Given the description of an element on the screen output the (x, y) to click on. 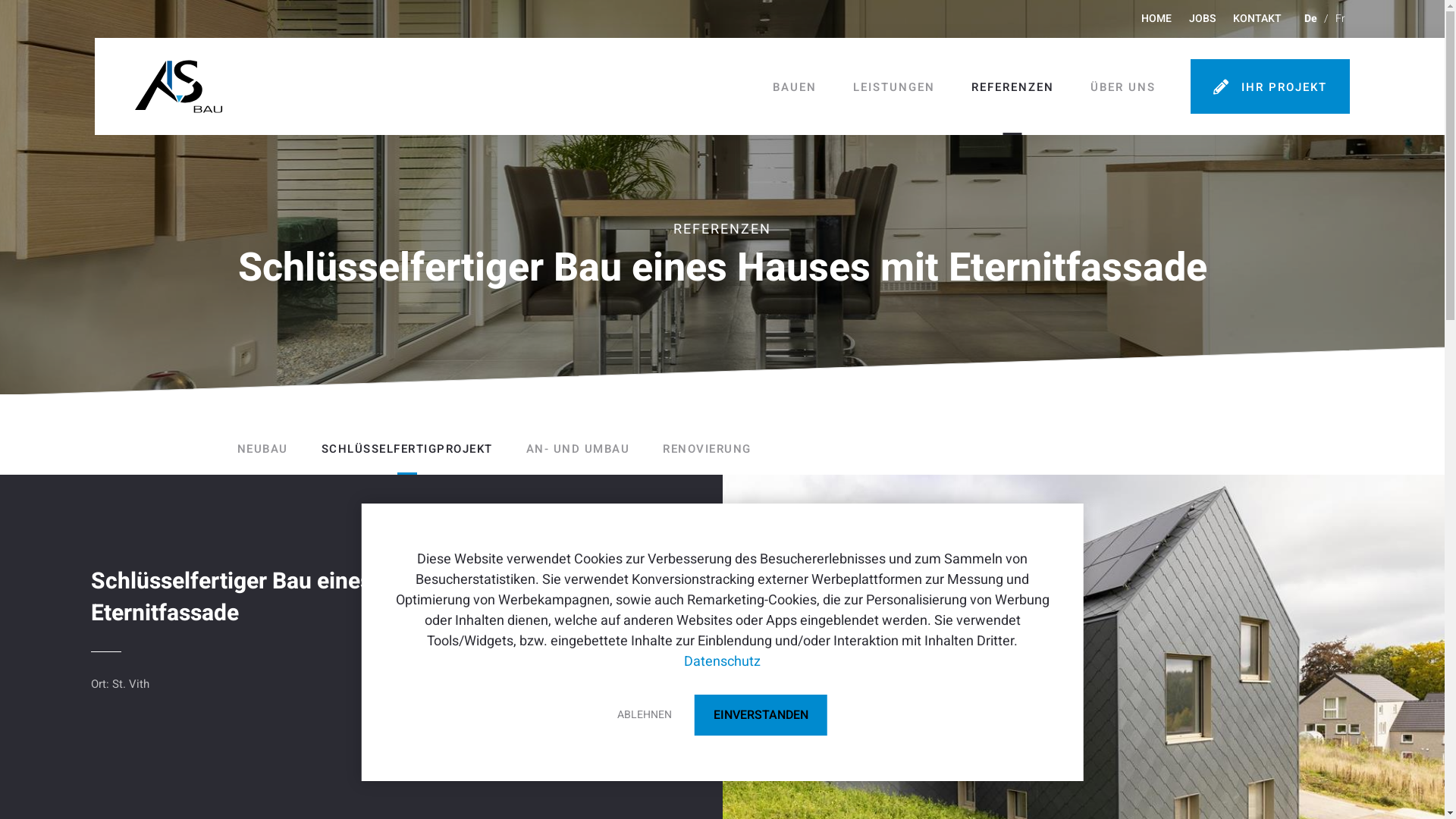
JOBS Element type: text (1202, 18)
Datenschutz Element type: text (722, 661)
ABLEHNEN Element type: text (644, 715)
De Element type: text (1310, 18)
HOME Element type: text (1156, 18)
REFERENZEN Element type: text (1012, 86)
BAUEN Element type: text (794, 86)
IHR PROJEKT Element type: text (1269, 86)
EINVERSTANDEN Element type: text (760, 714)
KONTAKT Element type: text (1257, 18)
Fr Element type: text (1339, 18)
NEUBAU Element type: text (261, 448)
AN- UND UMBAU Element type: text (578, 448)
RENOVIERUNG Element type: text (706, 448)
LEISTUNGEN Element type: text (893, 86)
